Given the description of an element on the screen output the (x, y) to click on. 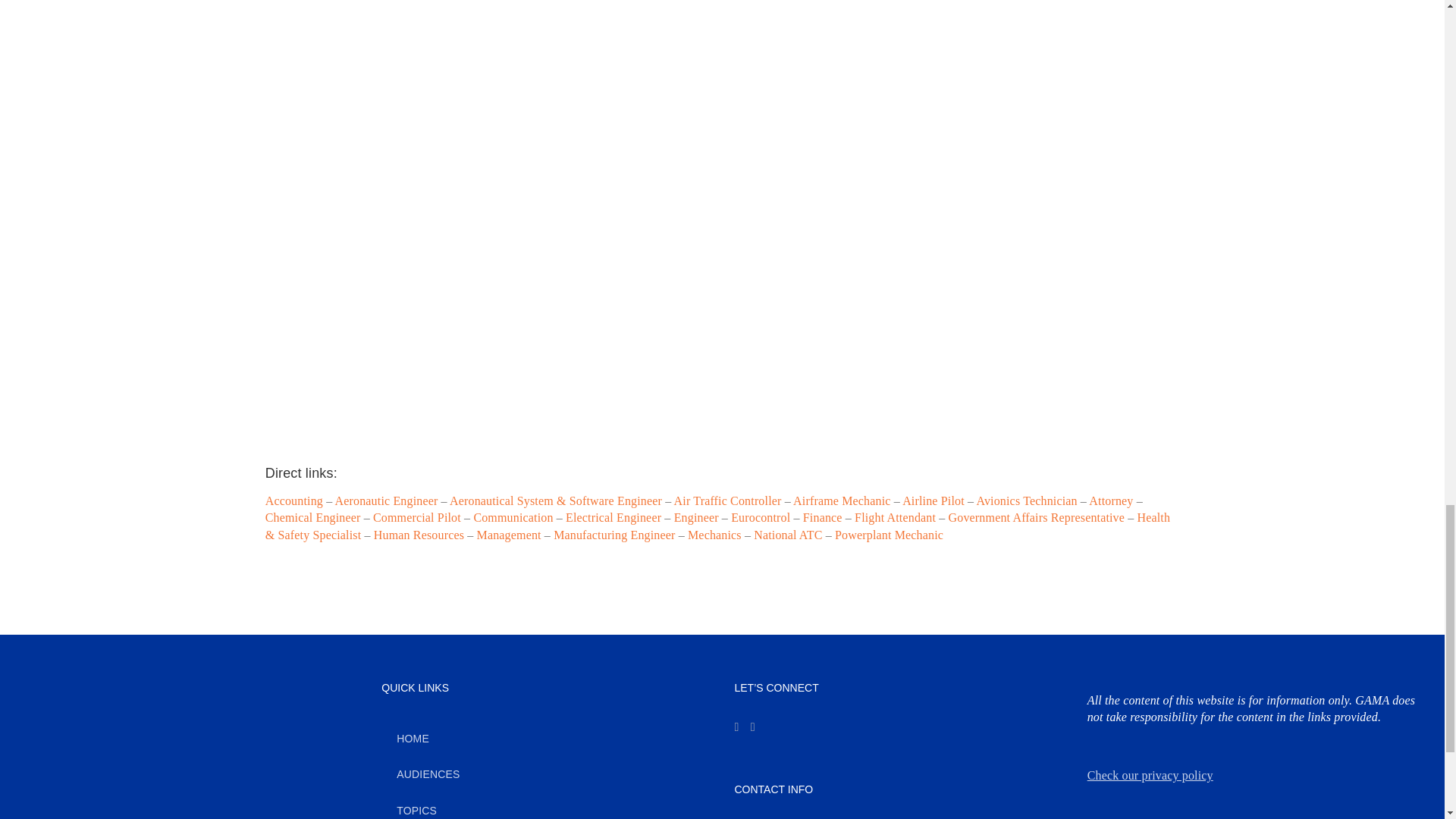
LinkedIn (753, 727)
Instagram (735, 727)
